Given the description of an element on the screen output the (x, y) to click on. 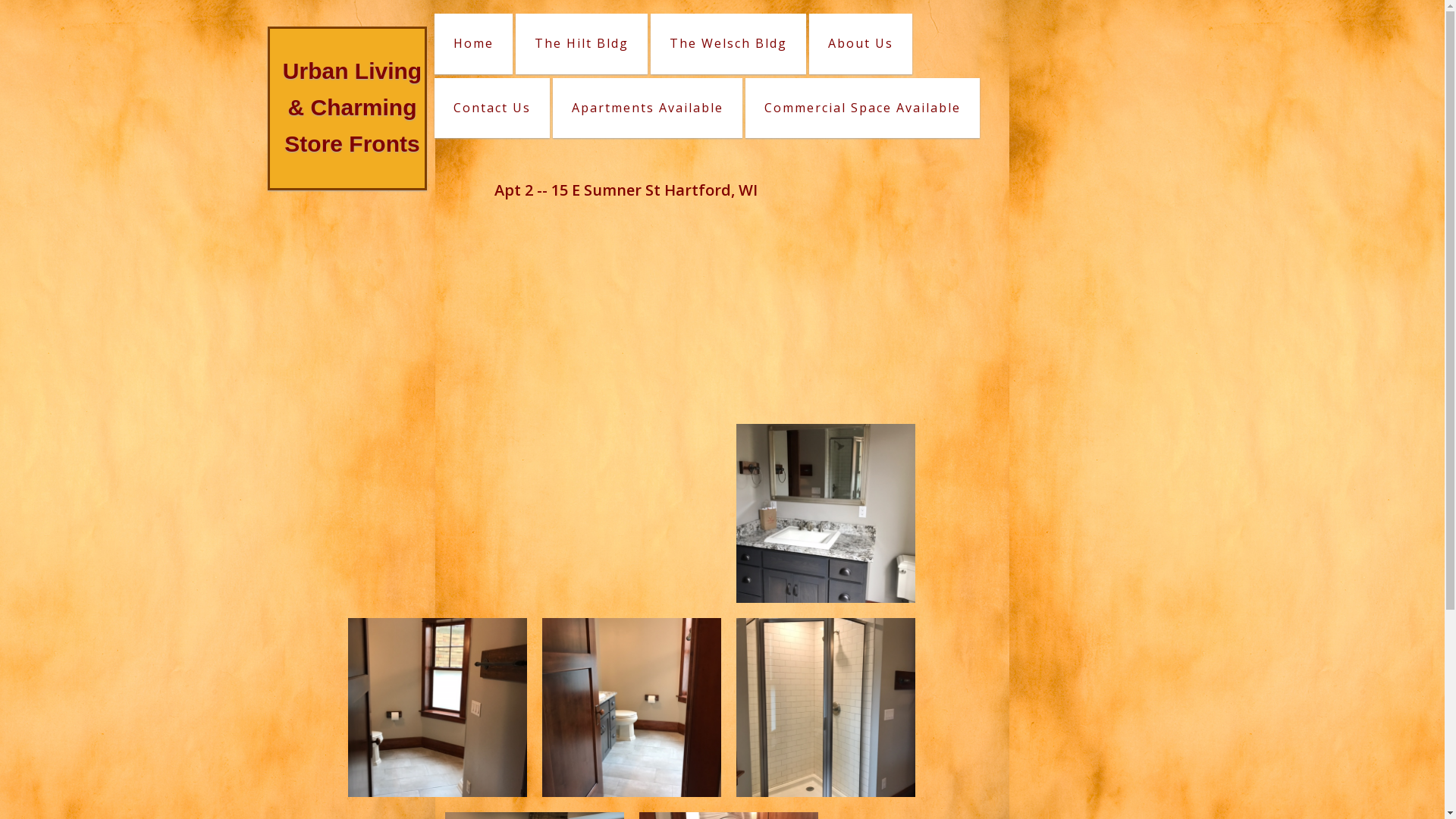
Apt 2 Bathroom Element type: hover (436, 707)
Apartments Available Element type: text (646, 108)
Apartment 2 Element type: hover (436, 318)
Apt 2 entrance Element type: hover (630, 318)
Contact Us Element type: text (491, 108)
Commercial Space Available Element type: text (861, 108)
Apt 2 Vanity Element type: hover (824, 512)
Apt 2 Bathroom Element type: hover (630, 707)
Home Element type: text (472, 43)
About Us Element type: text (859, 43)
Apt 2 Kitchen/Living room Element type: hover (436, 512)
Apt 2 kitchen Element type: hover (824, 318)
The Welsch Bldg Element type: text (728, 43)
Apt 2 Kitchen Element type: hover (630, 512)
The Hilt Bldg Element type: text (581, 43)
Apt 2 Shower Element type: hover (824, 707)
